Given the description of an element on the screen output the (x, y) to click on. 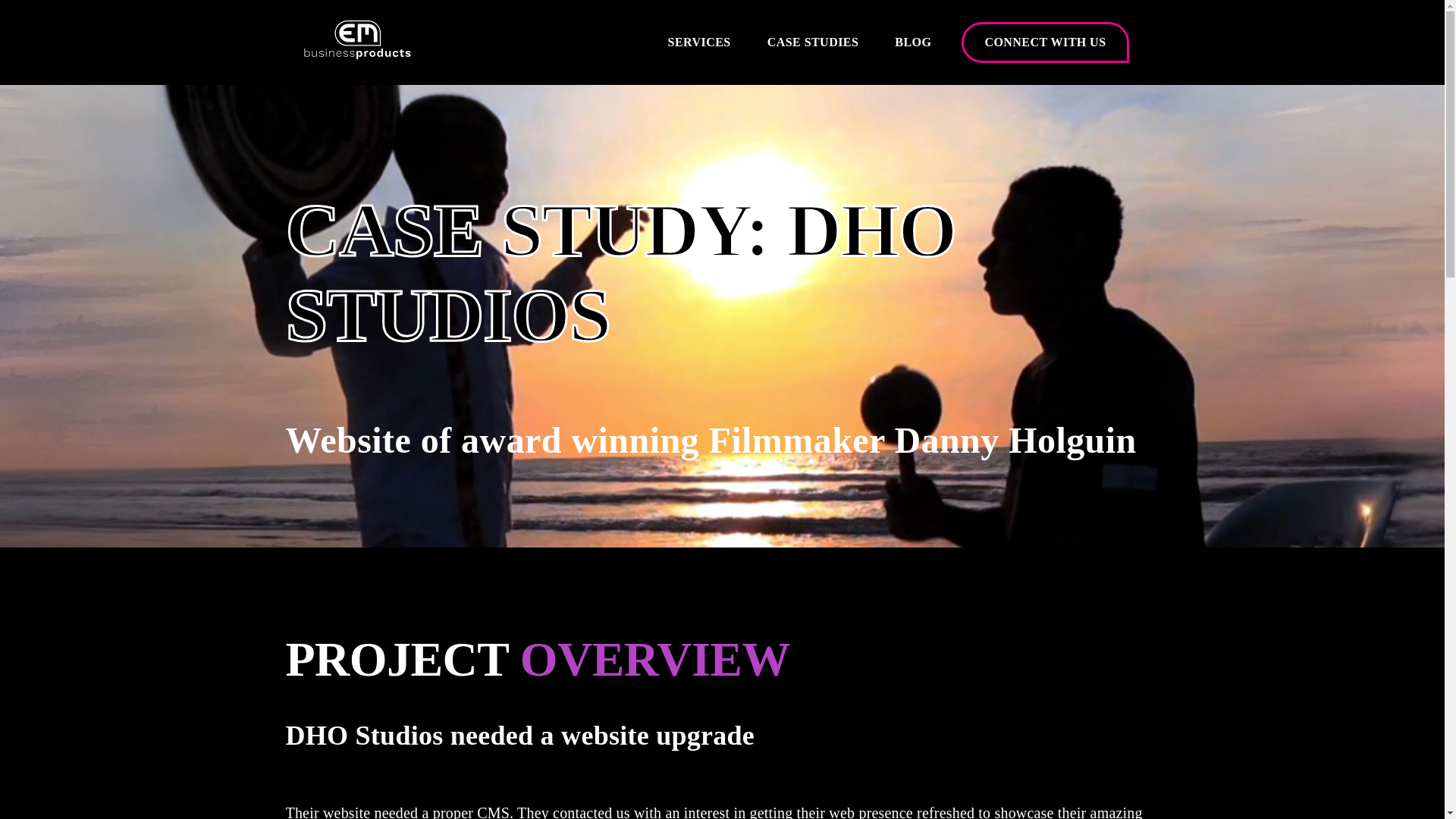
SERVICES (699, 42)
CONNECT WITH US (1044, 42)
BLOG (912, 42)
CASE STUDIES (812, 42)
